Given the description of an element on the screen output the (x, y) to click on. 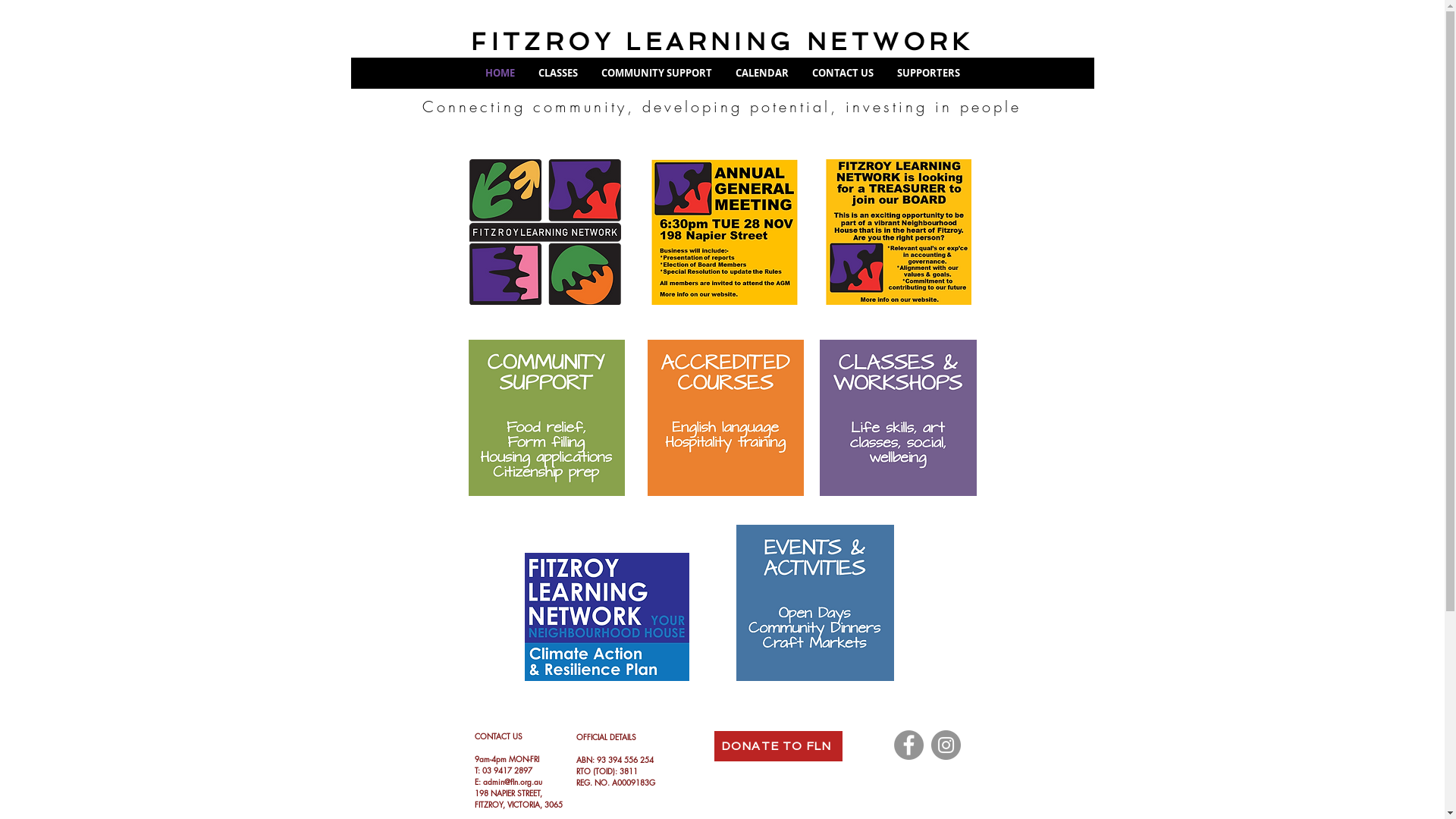
admin@fln.org.au Element type: text (511, 781)
SUPPORTERS Element type: text (927, 72)
web square.png Element type: hover (606, 616)
COMMUNITY SUPPORT Element type: text (656, 72)
CLASSES Element type: text (557, 72)
FITZROY LEARNING NETWORK Element type: text (721, 41)
CONTACT US Element type: text (842, 72)
HOME Element type: text (499, 72)
DONATE TO FLN Element type: text (778, 746)
CALENDAR Element type: text (761, 72)
